Given the description of an element on the screen output the (x, y) to click on. 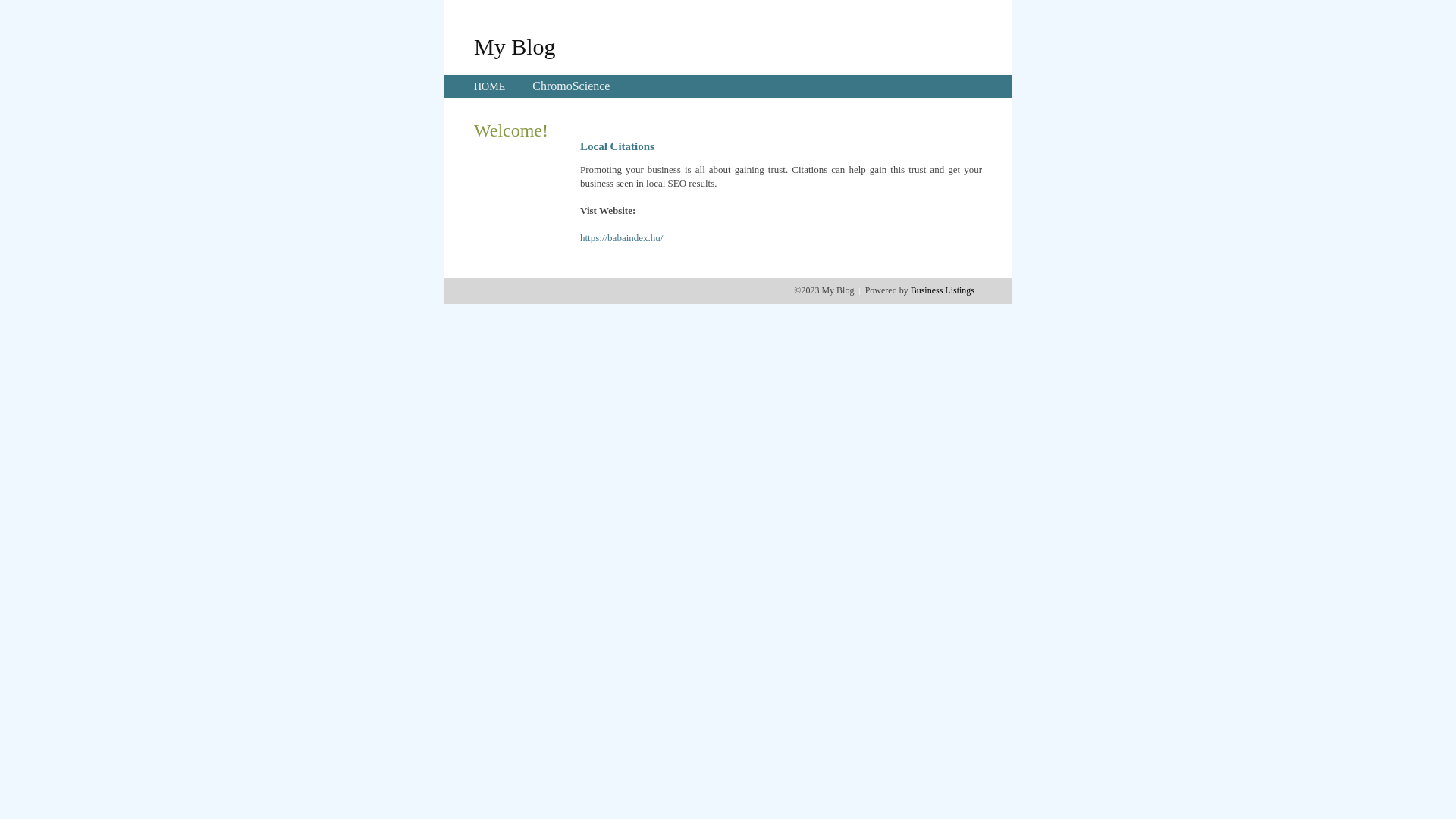
ChromoScience Element type: text (570, 85)
HOME Element type: text (489, 86)
My Blog Element type: text (514, 46)
Business Listings Element type: text (942, 290)
https://babaindex.hu/ Element type: text (621, 237)
